Given the description of an element on the screen output the (x, y) to click on. 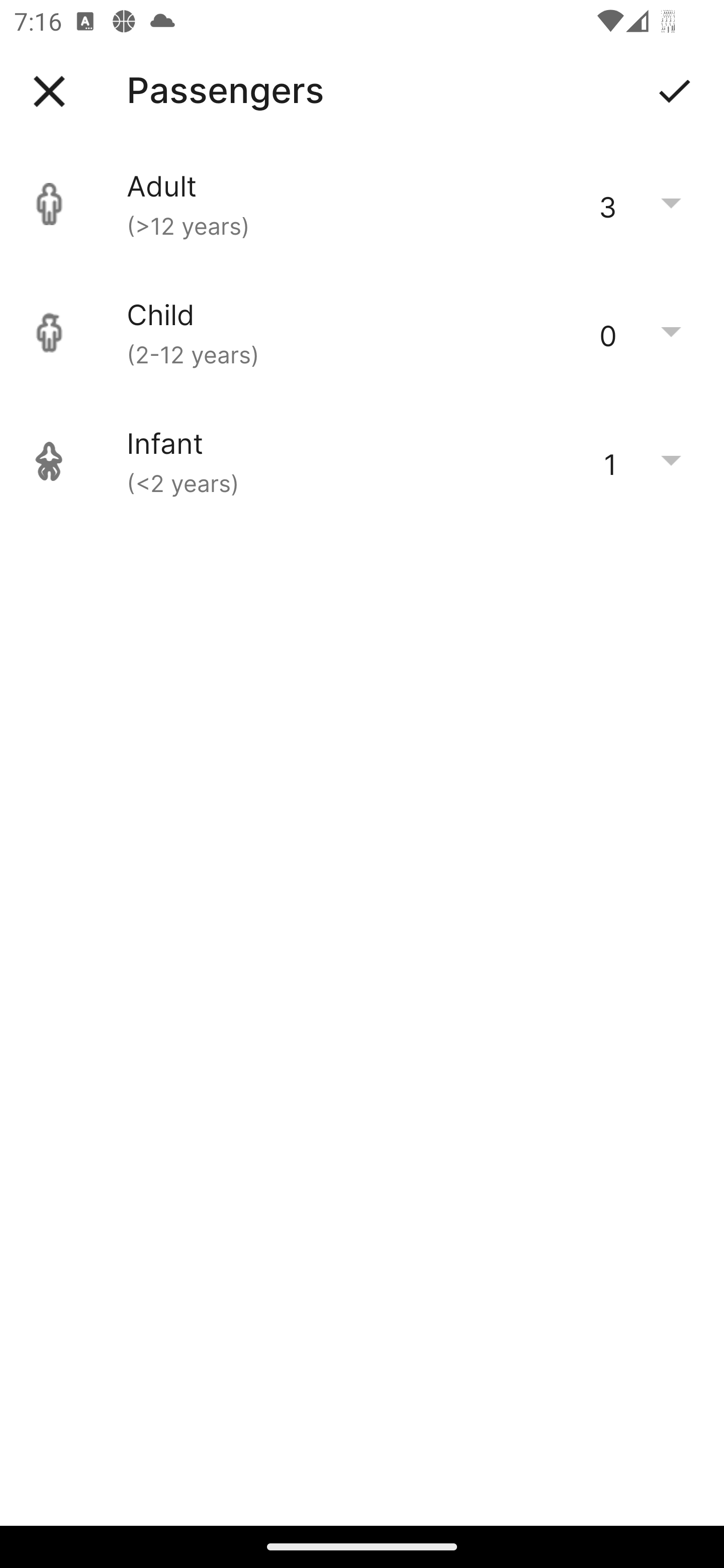
Adult (>12 years) 3 (362, 204)
Child (2-12 years) 0 (362, 332)
Infant (<2 years) 1 (362, 461)
